Given the description of an element on the screen output the (x, y) to click on. 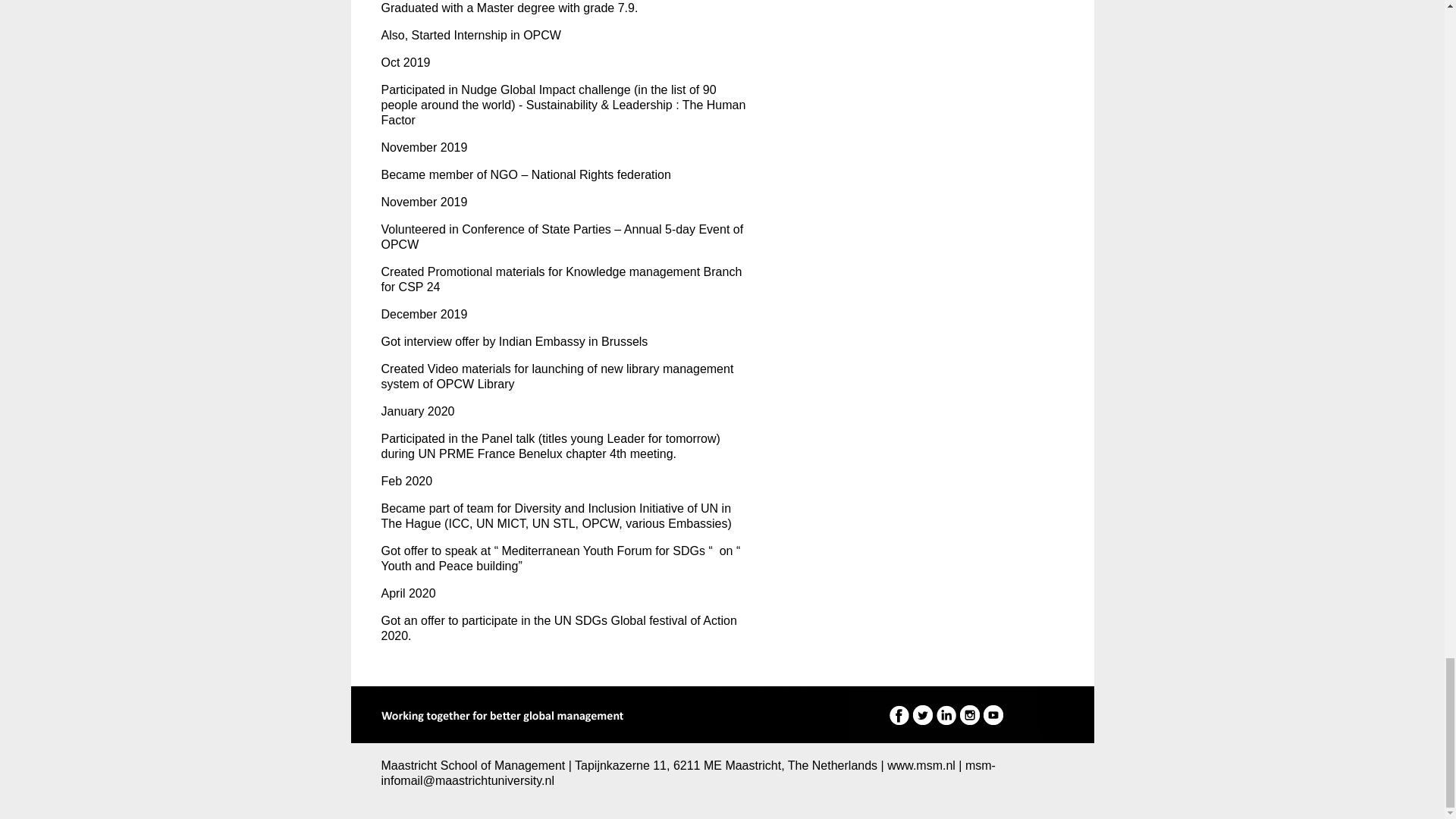
Facebook (898, 714)
LinkedIn (945, 714)
Twitter (922, 714)
www.msm.nl (920, 765)
